Given the description of an element on the screen output the (x, y) to click on. 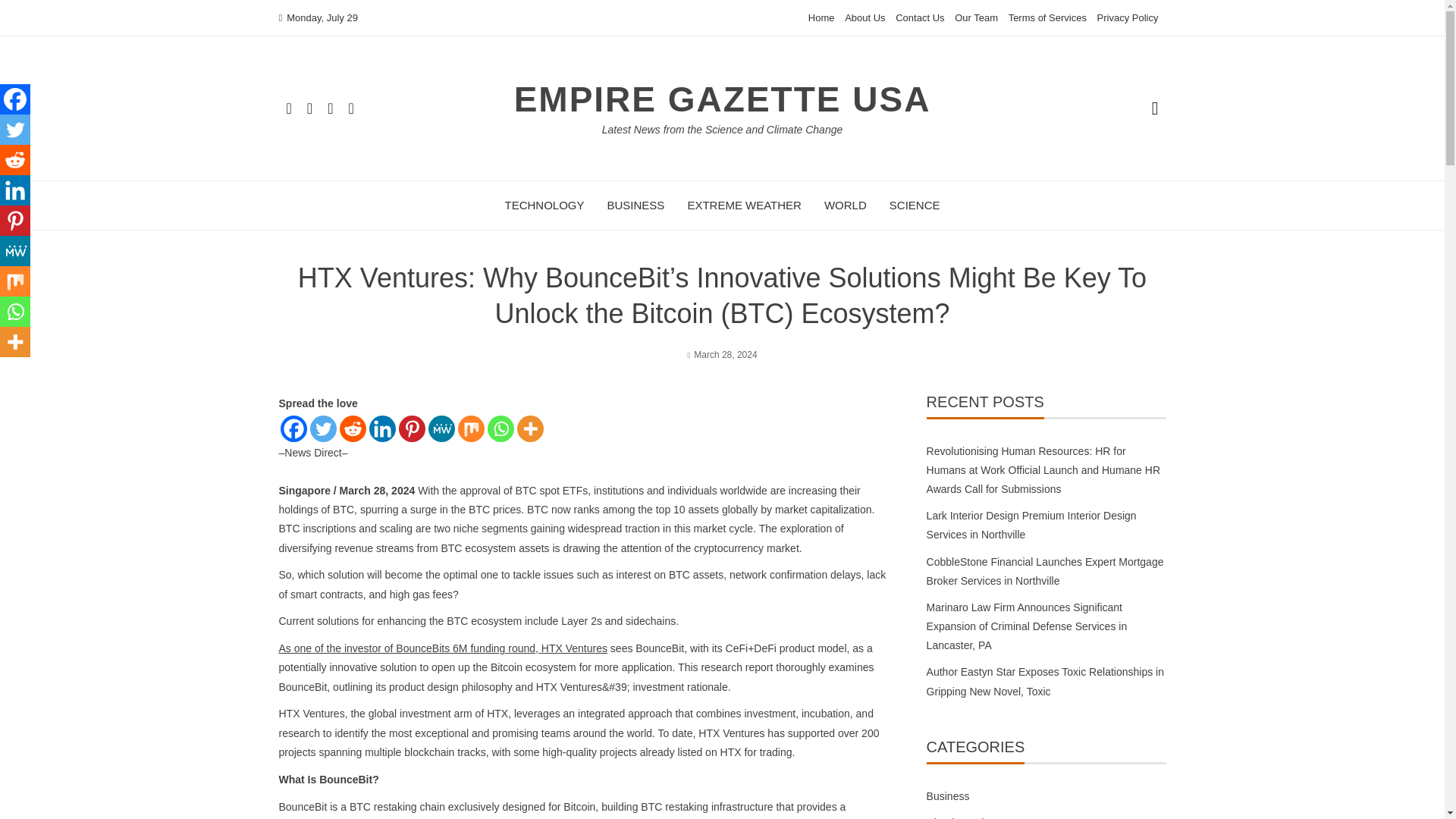
Contact Us (919, 17)
Pinterest (411, 428)
Reddit (352, 428)
Linkedin (15, 190)
Reddit (15, 159)
Home (821, 17)
TECHNOLOGY (545, 205)
Privacy Policy (1127, 17)
BUSINESS (636, 205)
Linkedin (381, 428)
Pinterest (15, 220)
Mix (471, 428)
MeWe (15, 250)
Twitter (322, 428)
MeWe (441, 428)
